Given the description of an element on the screen output the (x, y) to click on. 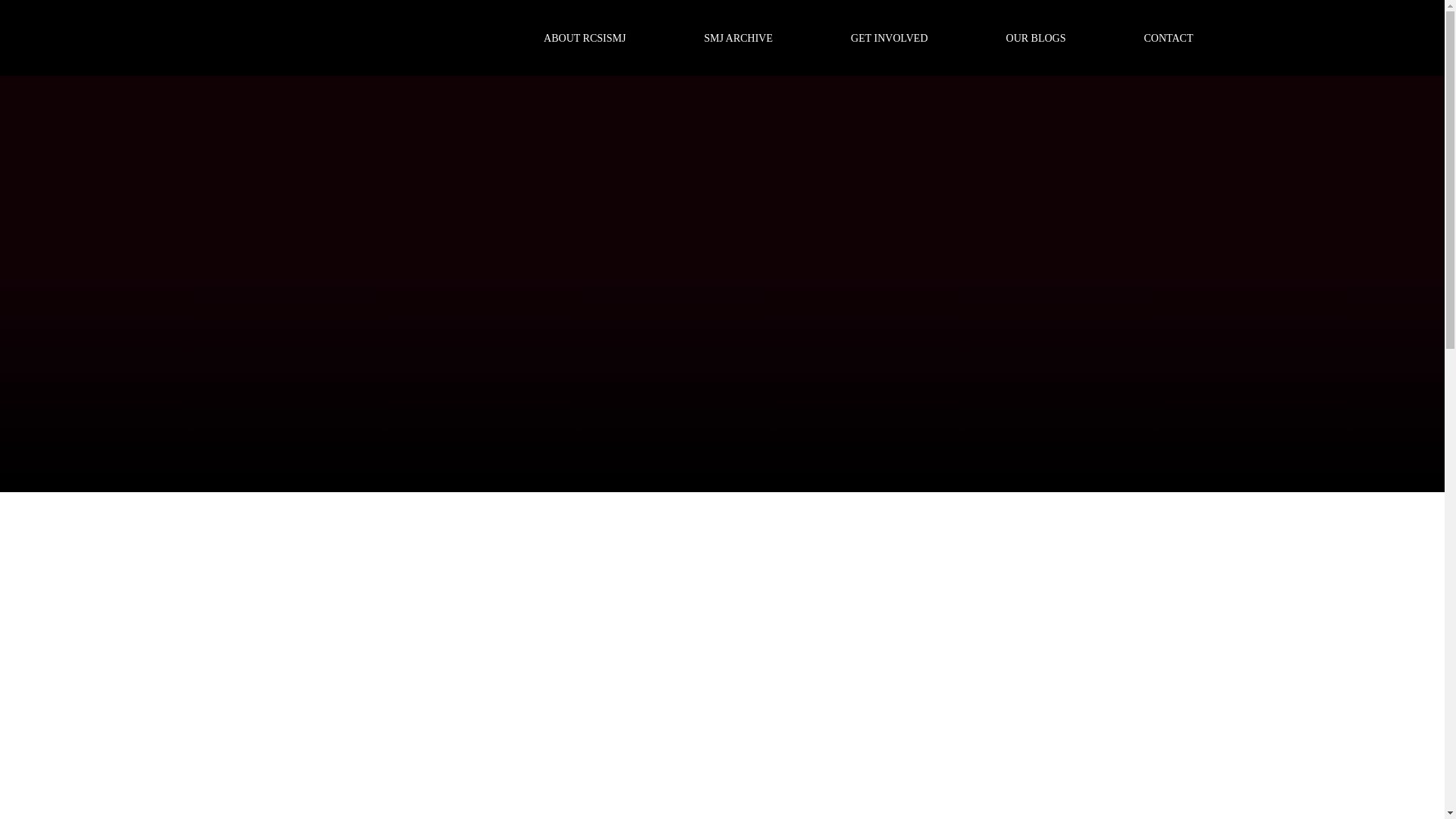
CONTACT (1168, 37)
ABOUT RCSISMJ (584, 37)
SMJ ARCHIVE (737, 37)
OUR BLOGS (1035, 37)
GET INVOLVED (889, 37)
